Given the description of an element on the screen output the (x, y) to click on. 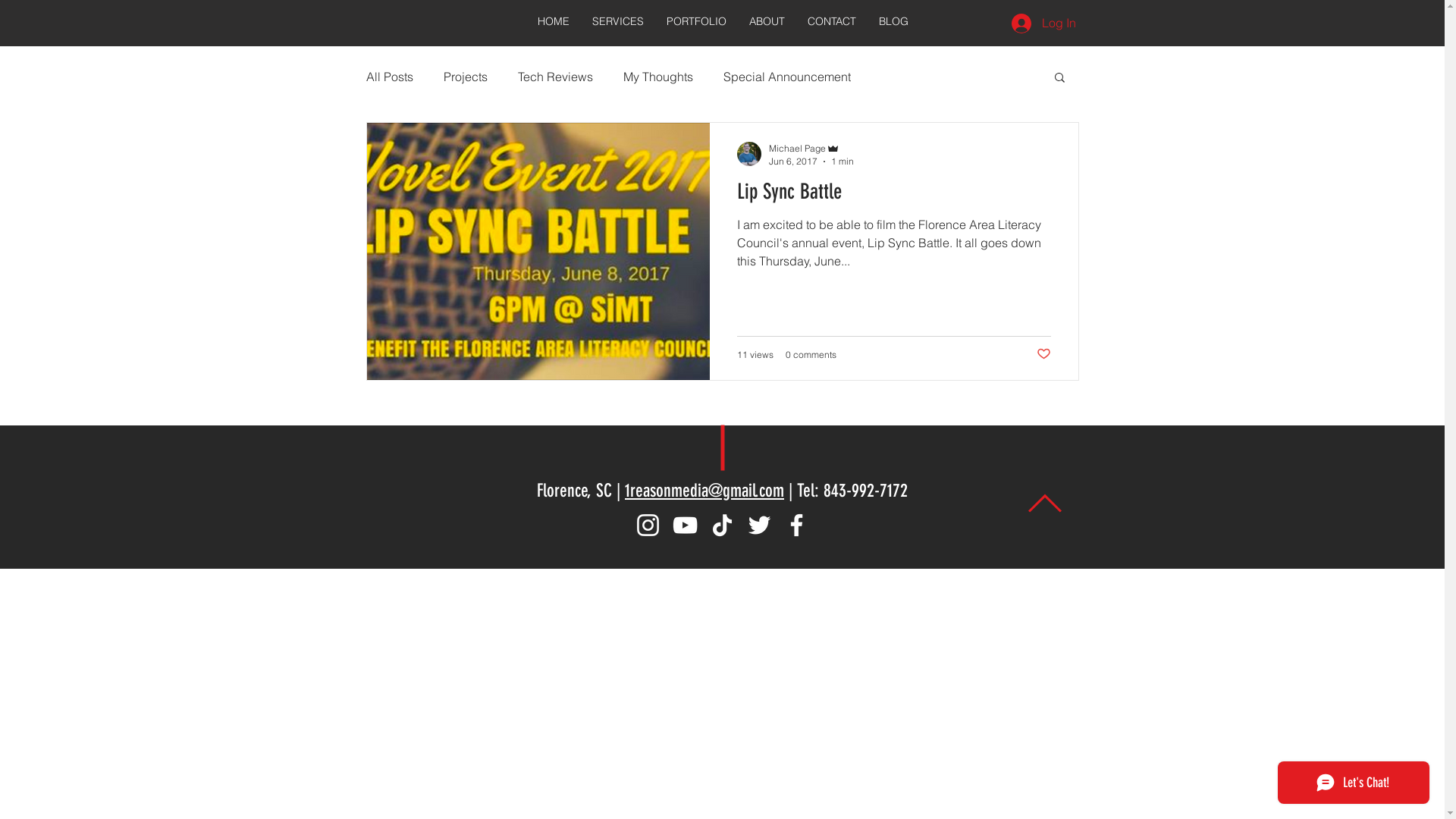
Tech Reviews Element type: text (554, 76)
1reasonmedia@gmail.com Element type: text (704, 490)
All Posts Element type: text (388, 76)
PORTFOLIO Element type: text (696, 21)
Post not marked as liked Element type: text (1042, 354)
CONTACT Element type: text (831, 21)
Projects Element type: text (464, 76)
BLOG Element type: text (893, 21)
Log In Element type: text (1043, 23)
HOME Element type: text (553, 21)
ABOUT Element type: text (766, 21)
Special Announcement Element type: text (786, 76)
SERVICES Element type: text (617, 21)
0 comments Element type: text (810, 354)
Michael Page Element type: text (810, 148)
Lip Sync Battle Element type: text (894, 195)
My Thoughts Element type: text (658, 76)
